Given the description of an element on the screen output the (x, y) to click on. 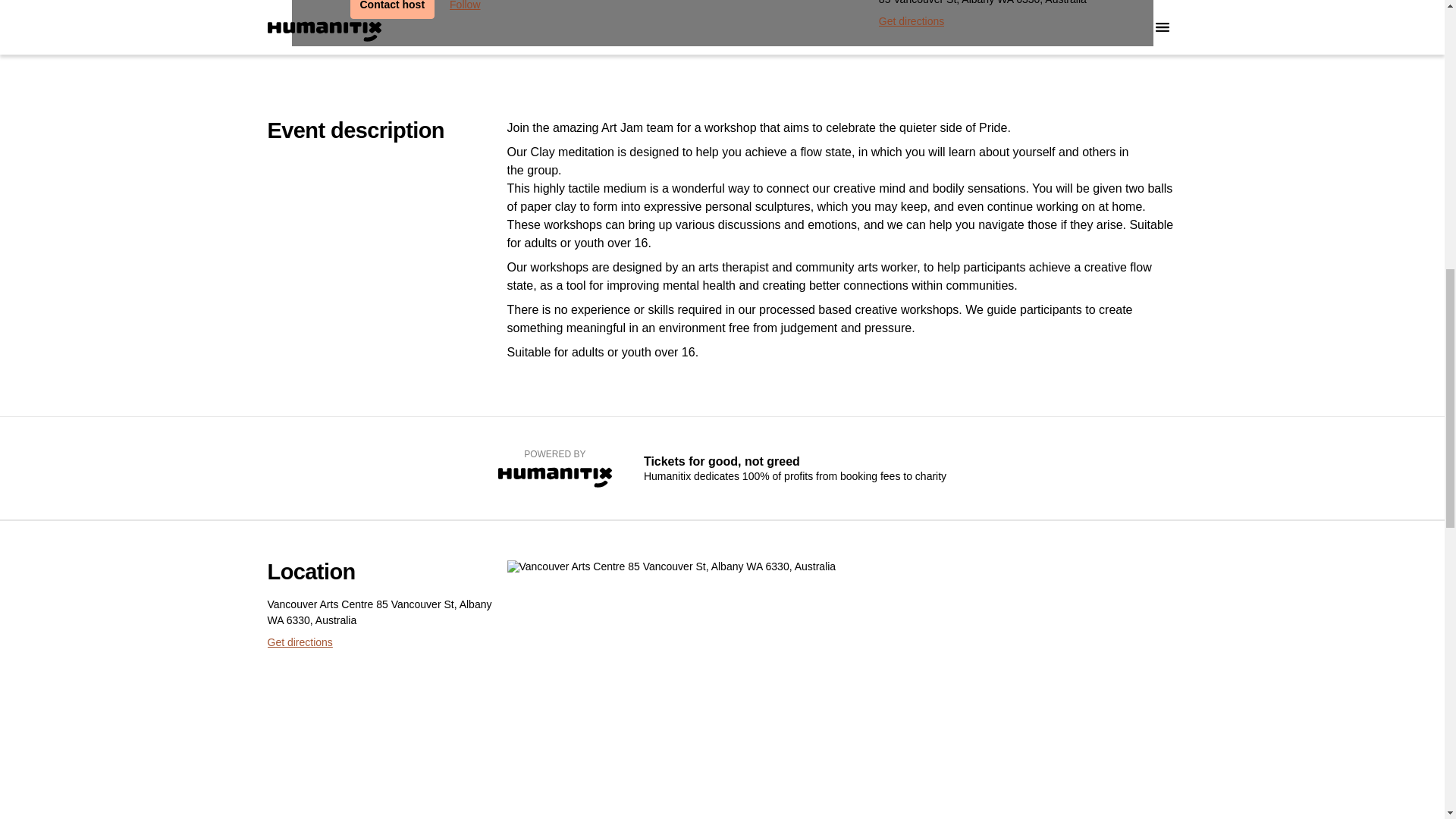
Get directions (911, 21)
Follow (465, 9)
Get directions (298, 642)
